Given the description of an element on the screen output the (x, y) to click on. 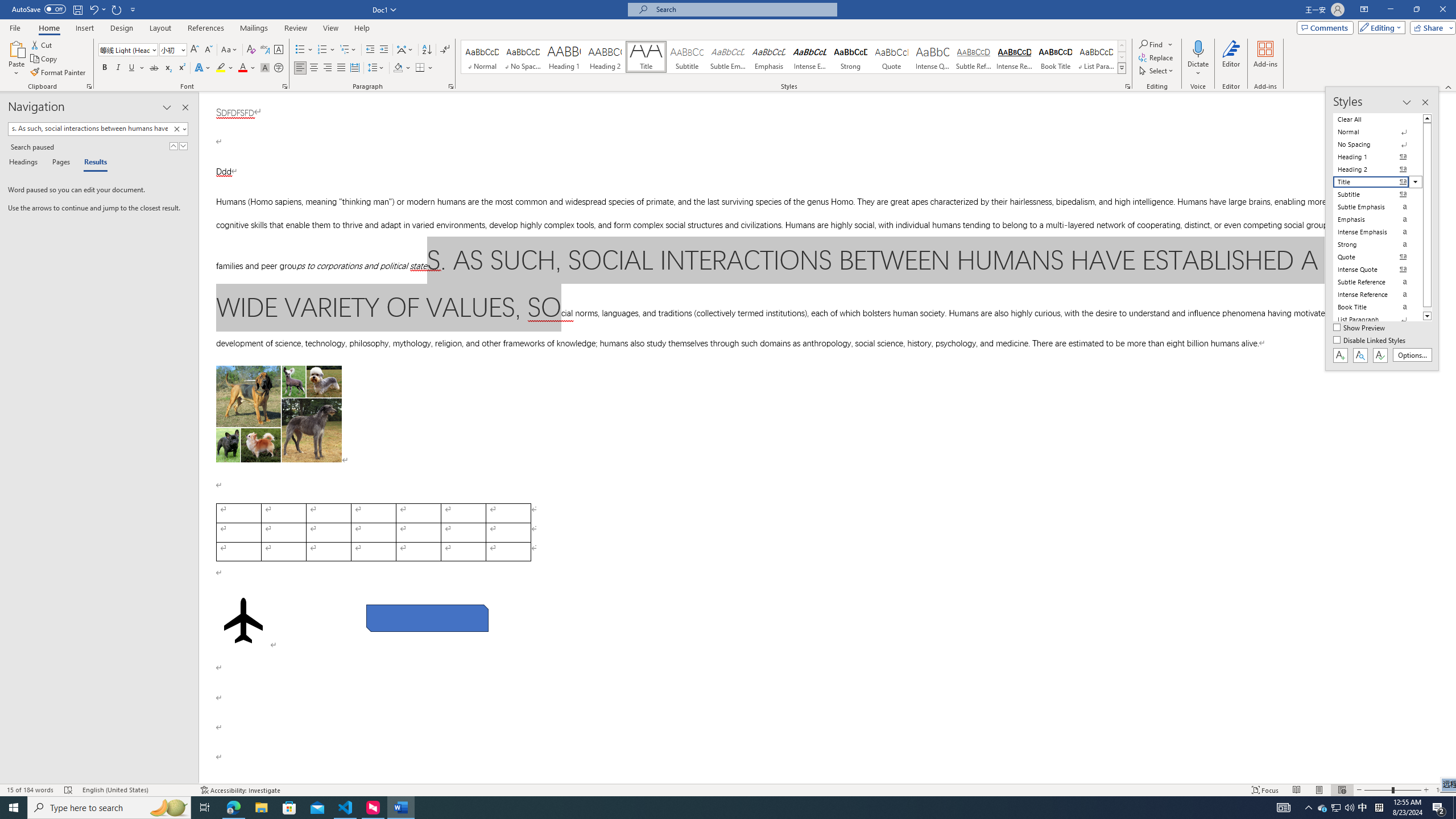
Word Count 15 of 184 words (30, 790)
Intense Reference (1014, 56)
